Given the description of an element on the screen output the (x, y) to click on. 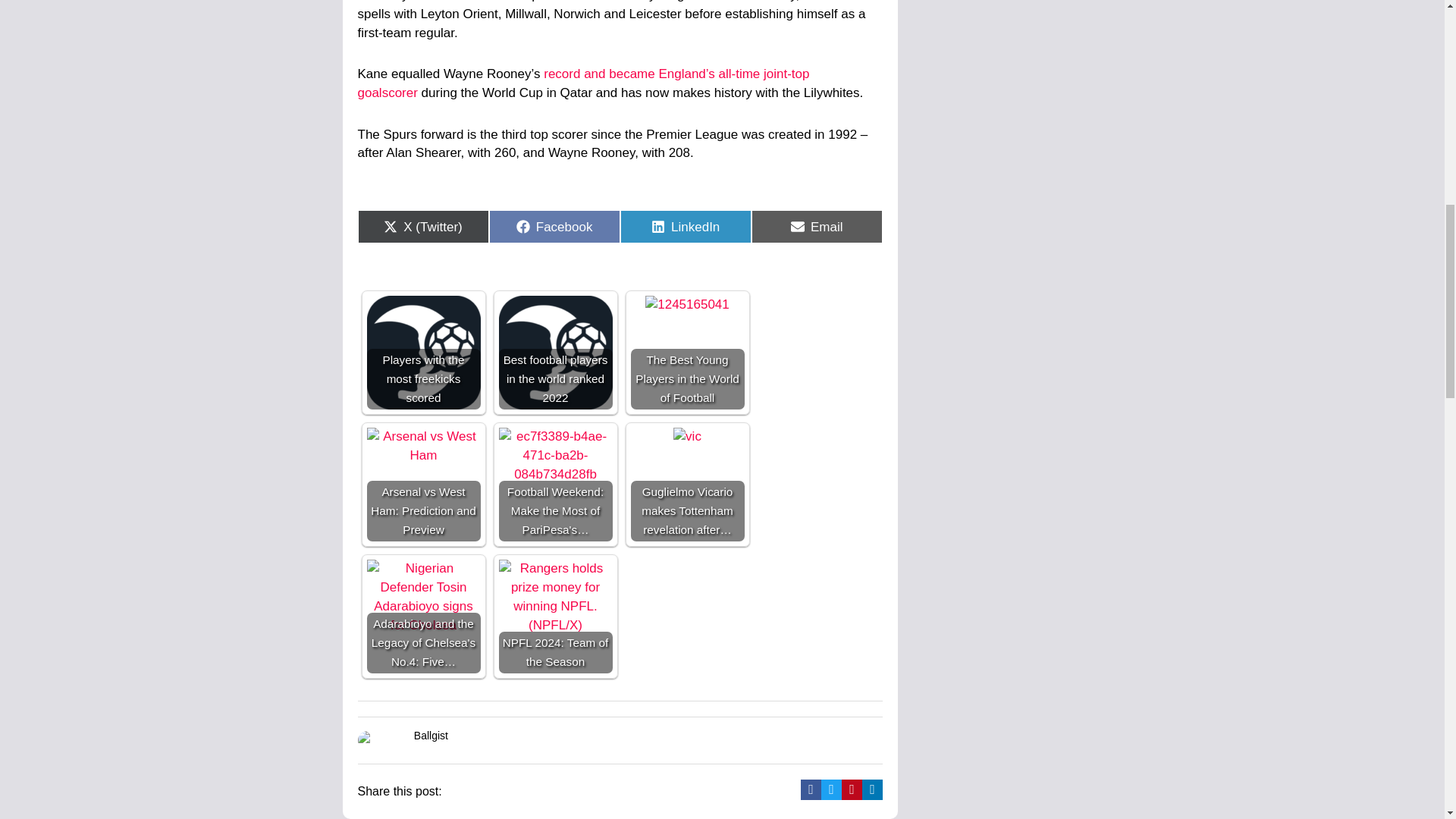
NPFL 2024: Team of the Season (555, 596)
Best football players in the world ranked 2022 (555, 352)
Arsenal vs West Ham: Prediction and Preview (423, 446)
Players with the most freekicks scored (423, 352)
The Best Young Players in the World of Football (687, 304)
